Given the description of an element on the screen output the (x, y) to click on. 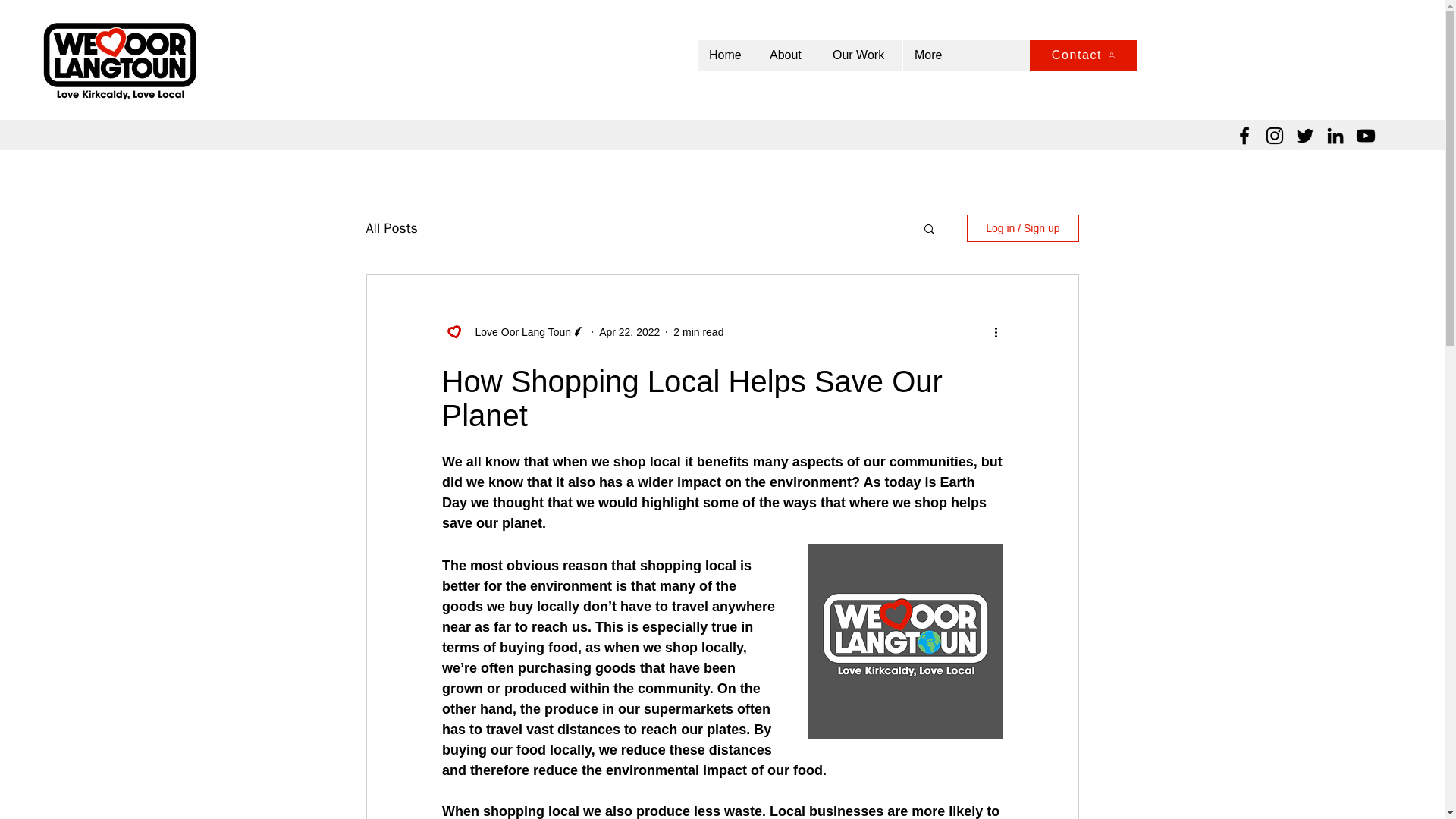
Contact (1083, 55)
2 min read (697, 331)
Home (727, 55)
Love Oor Lang Toun (517, 332)
All Posts (390, 228)
Apr 22, 2022 (628, 331)
